Given the description of an element on the screen output the (x, y) to click on. 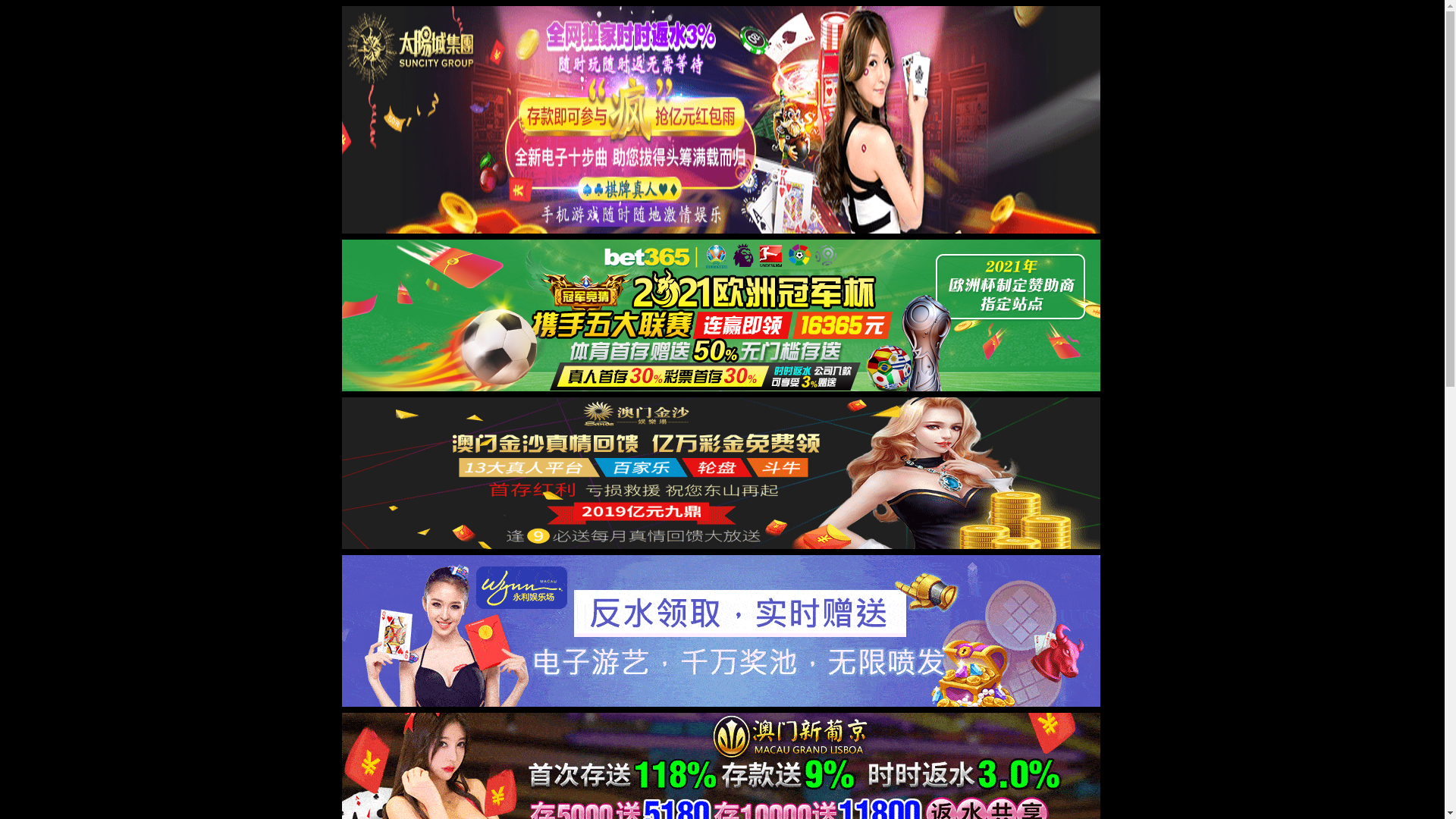
English Element type: text (993, 29)
  Element type: text (1129, 85)
